Given the description of an element on the screen output the (x, y) to click on. 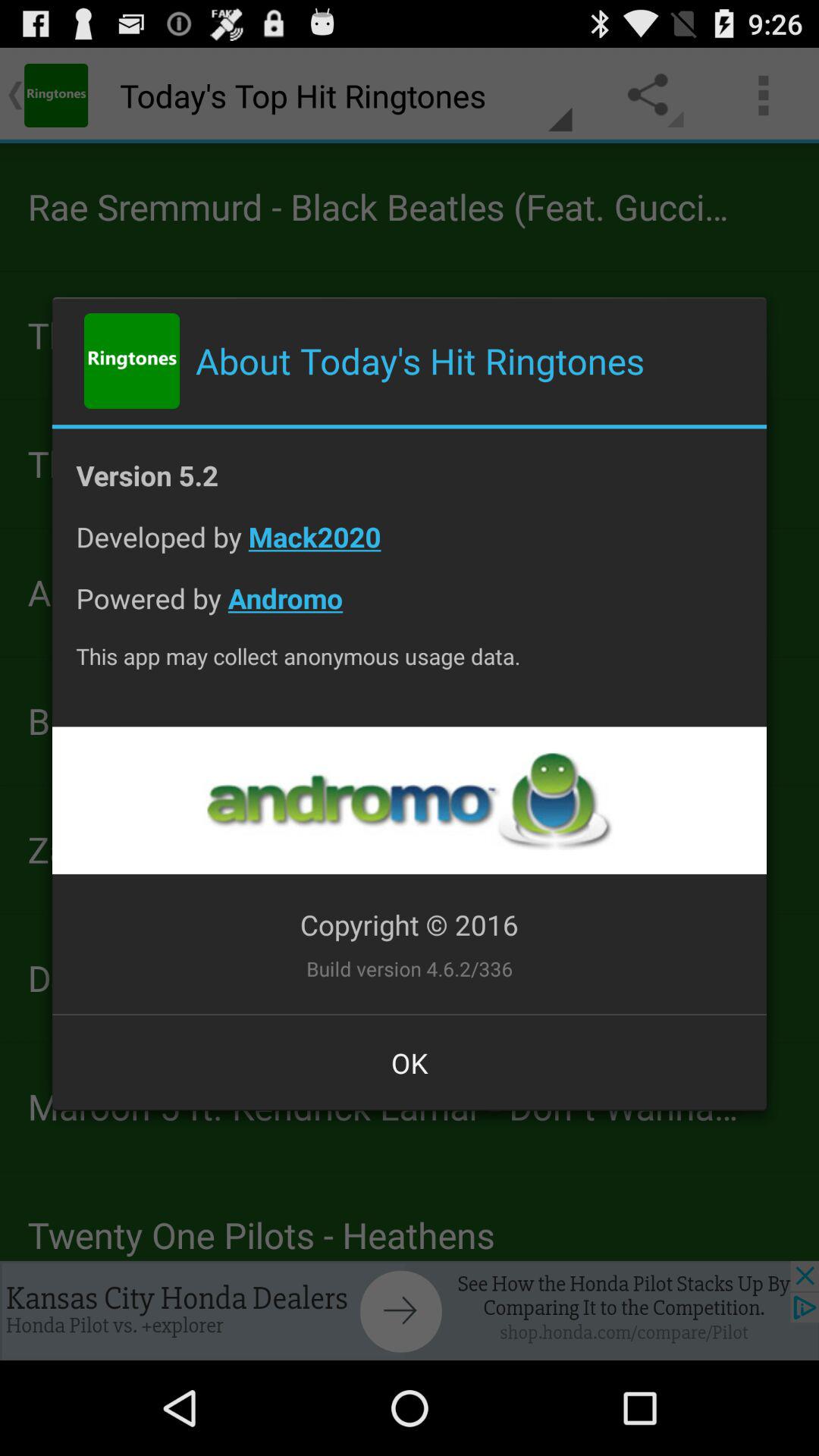
turn on icon below the version 5.2 app (409, 548)
